Given the description of an element on the screen output the (x, y) to click on. 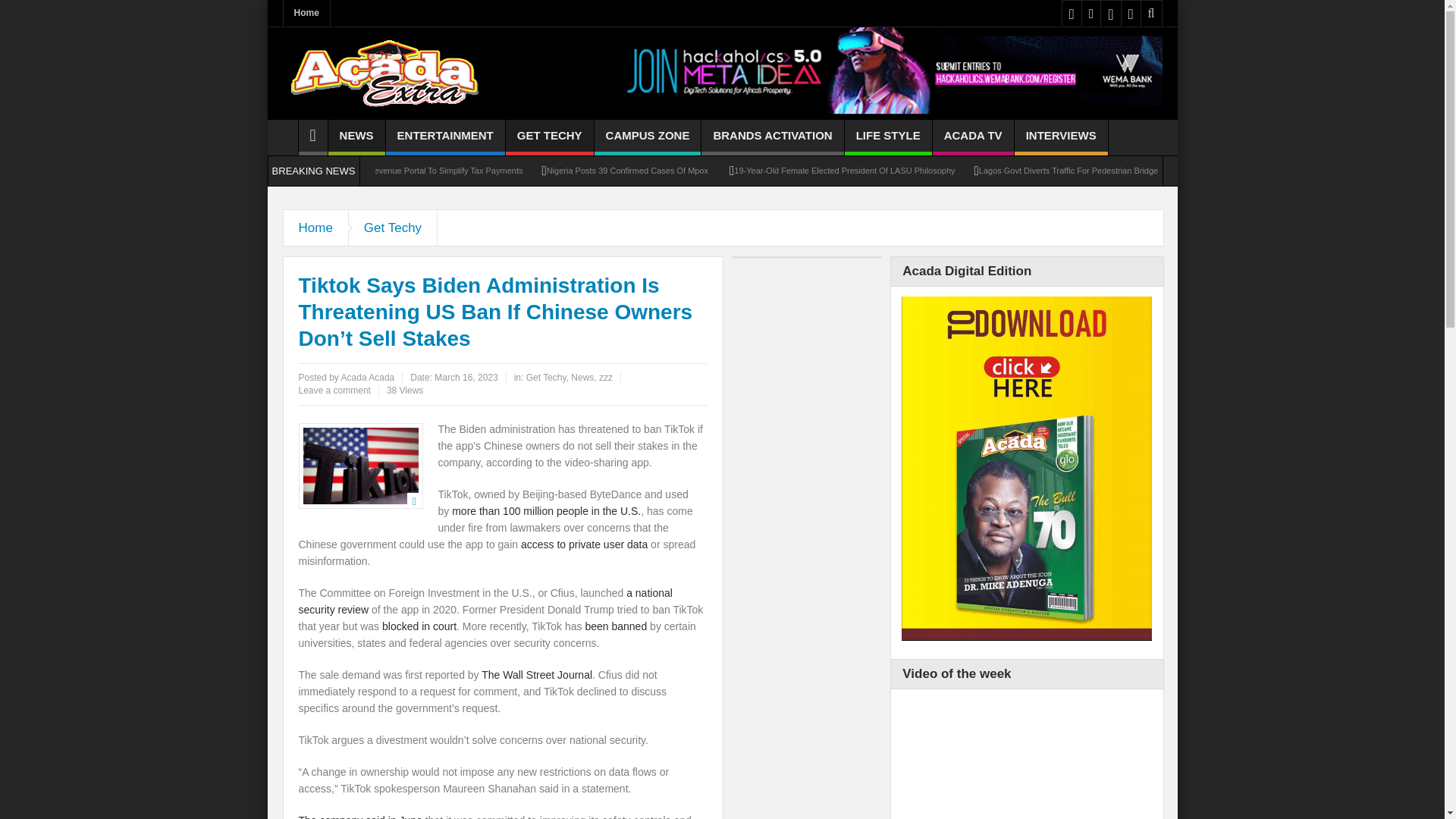
LIFE STYLE (887, 137)
ENTERTAINMENT (445, 137)
ACADA TV (973, 137)
NEWS (357, 137)
INTERVIEWS (1061, 137)
GET TECHY (549, 137)
Acada extra (384, 73)
Home (306, 13)
CAMPUS ZONE (647, 137)
Get Techy (393, 227)
